Given the description of an element on the screen output the (x, y) to click on. 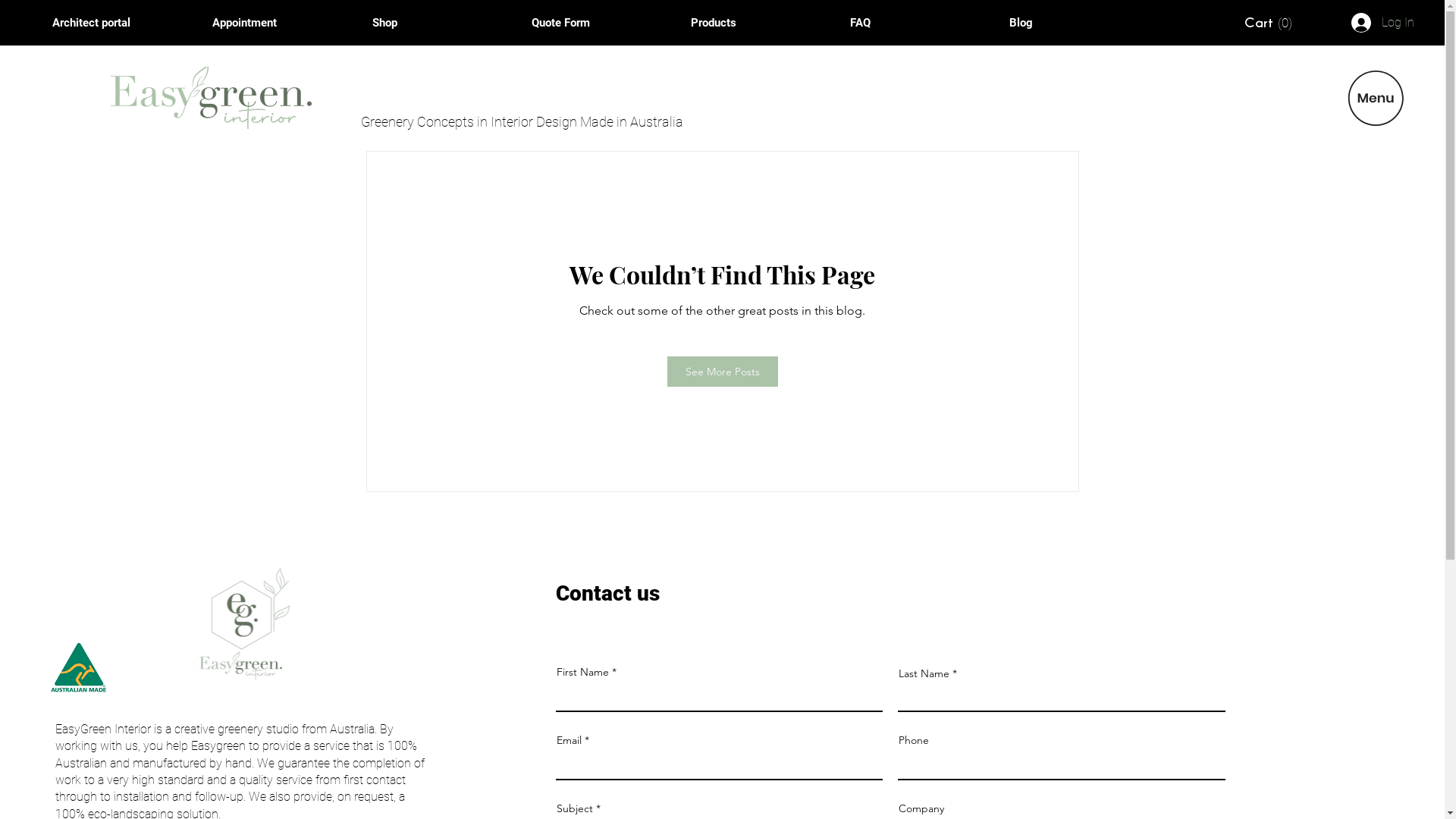
Log In Element type: text (1382, 22)
Cart (0) Element type: text (1267, 22)
FAQ Element type: text (917, 22)
Quote Form Element type: text (599, 22)
See More Posts Element type: text (722, 371)
Architect portal Element type: text (120, 22)
Appointment Element type: text (280, 22)
Blog Element type: text (1077, 22)
Shop Element type: text (440, 22)
